Given the description of an element on the screen output the (x, y) to click on. 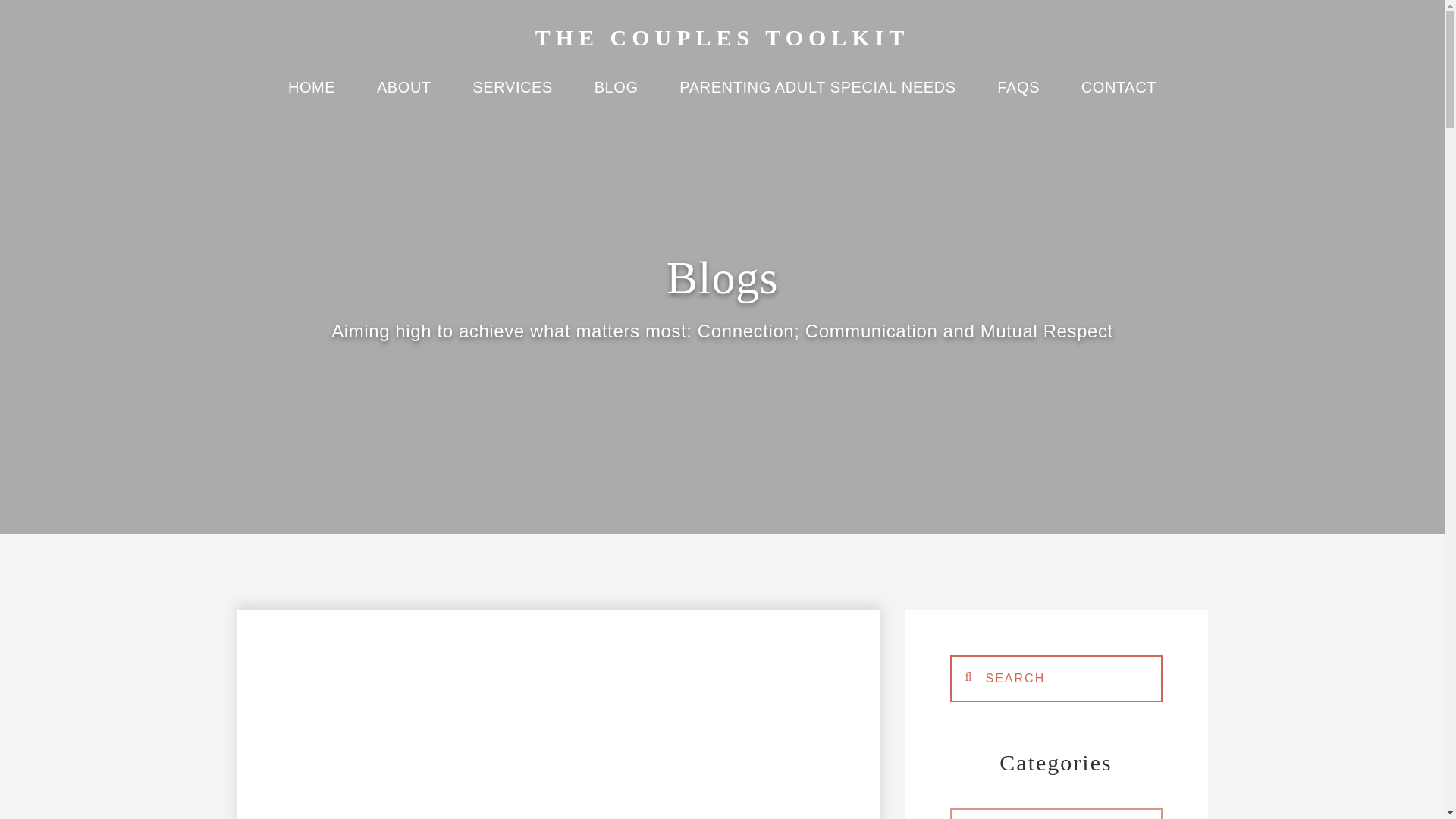
HOME (311, 96)
FAQS (1018, 96)
CONTACT (1118, 96)
SERVICES (512, 96)
PARENTING ADULT SPECIAL NEEDS (817, 96)
ABOUT (403, 96)
BLOG (616, 96)
THE COUPLES TOOLKIT (722, 37)
